Given the description of an element on the screen output the (x, y) to click on. 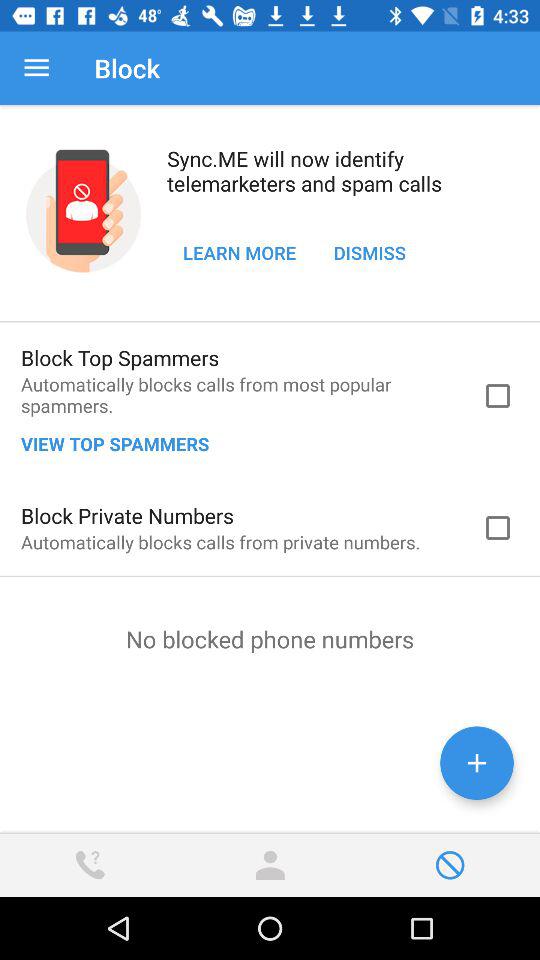
swipe to dismiss item (369, 252)
